Given the description of an element on the screen output the (x, y) to click on. 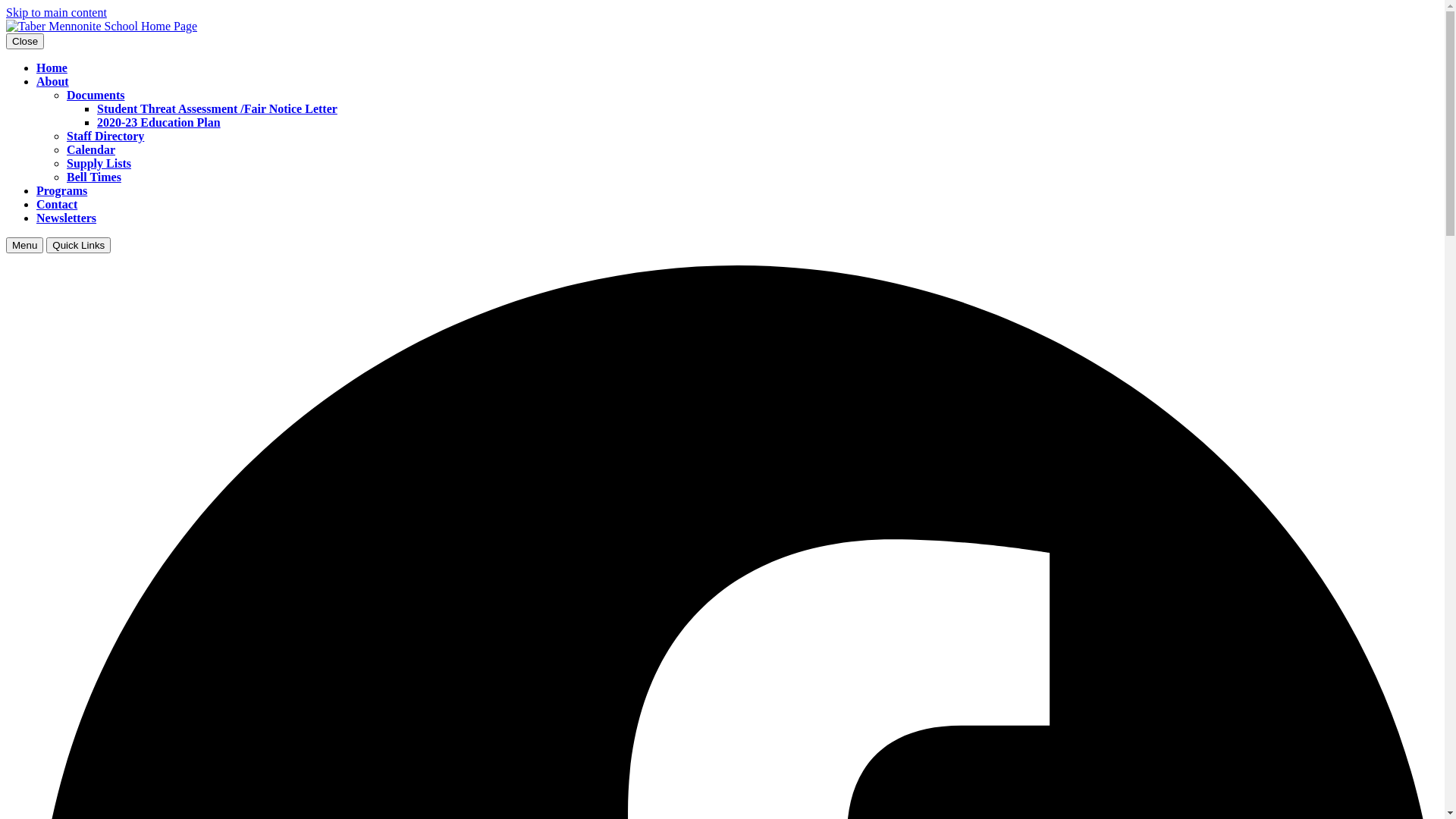
Calendar Element type: text (90, 149)
Skip to main content Element type: text (56, 12)
home Element type: hover (101, 25)
Contact Element type: text (56, 203)
Close Element type: text (24, 41)
About Element type: text (52, 81)
Bell Times Element type: text (93, 176)
Home Element type: text (51, 67)
Student Threat Assessment /Fair Notice Letter Element type: text (217, 108)
Quick Links Element type: text (78, 245)
Newsletters Element type: text (66, 217)
Documents Element type: text (95, 94)
Menu Element type: text (24, 245)
Programs Element type: text (61, 190)
2020-23 Education Plan Element type: text (158, 122)
Supply Lists Element type: text (98, 162)
Staff Directory Element type: text (105, 135)
